Given the description of an element on the screen output the (x, y) to click on. 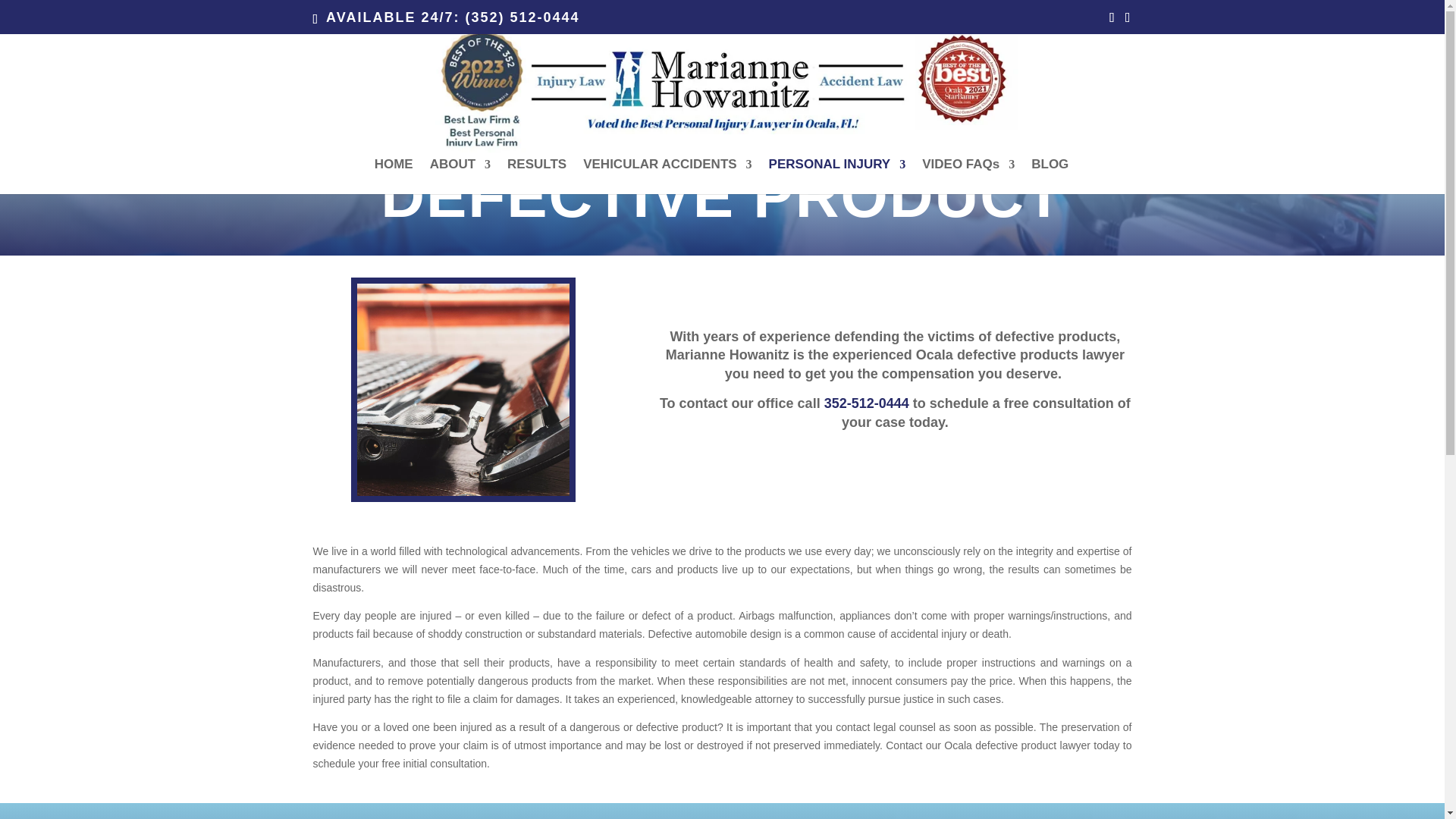
352-512-0444 (866, 403)
VIDEO FAQs (967, 176)
BLOG (1049, 176)
HOME (393, 176)
RESULTS (536, 176)
ABOUT (459, 176)
PERSONAL INJURY (836, 176)
VEHICULAR ACCIDENTS (667, 176)
